Given the description of an element on the screen output the (x, y) to click on. 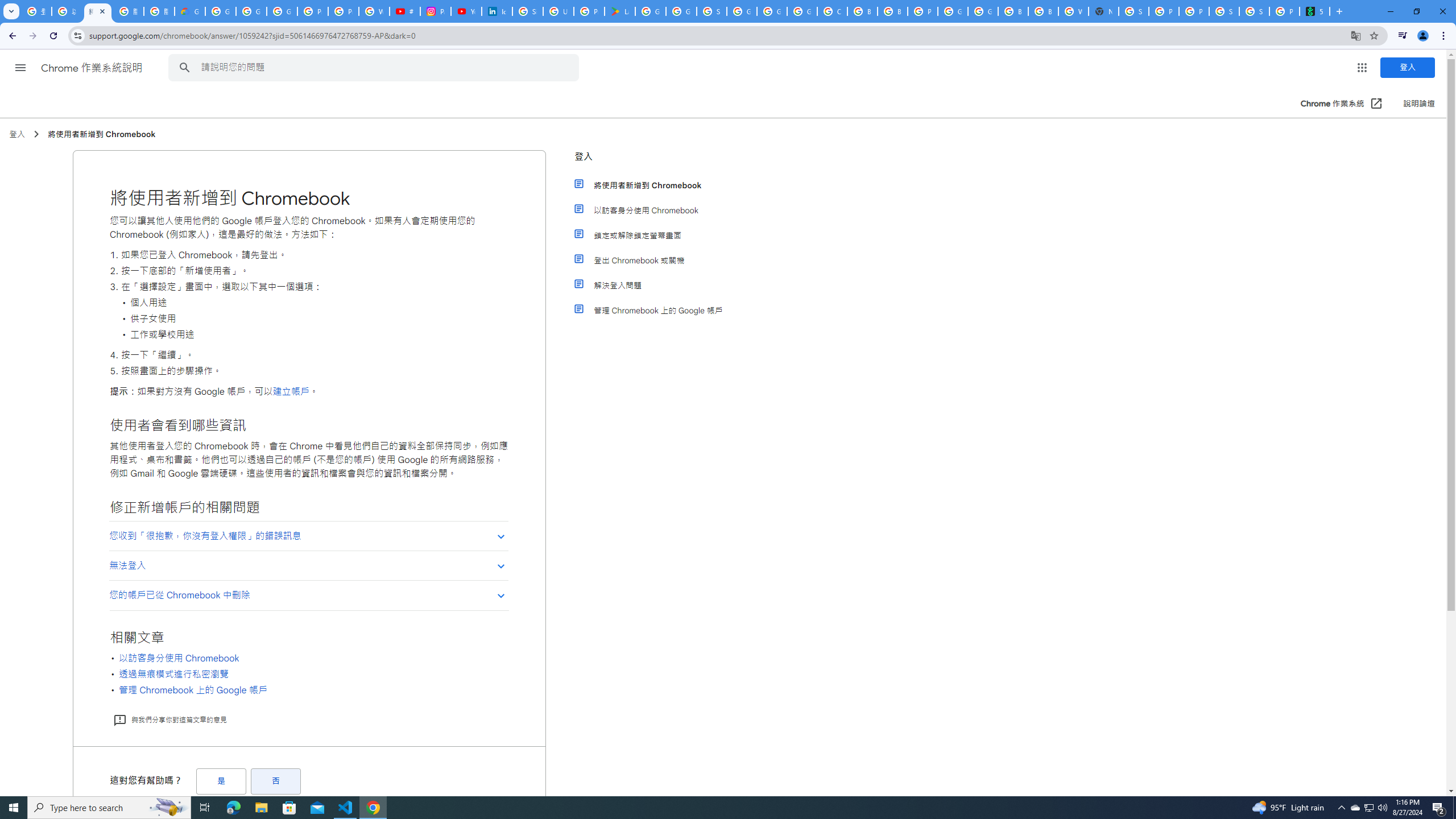
Last Shelter: Survival - Apps on Google Play (619, 11)
Google Cloud Platform (982, 11)
#nbabasketballhighlights - YouTube (404, 11)
